Given the description of an element on the screen output the (x, y) to click on. 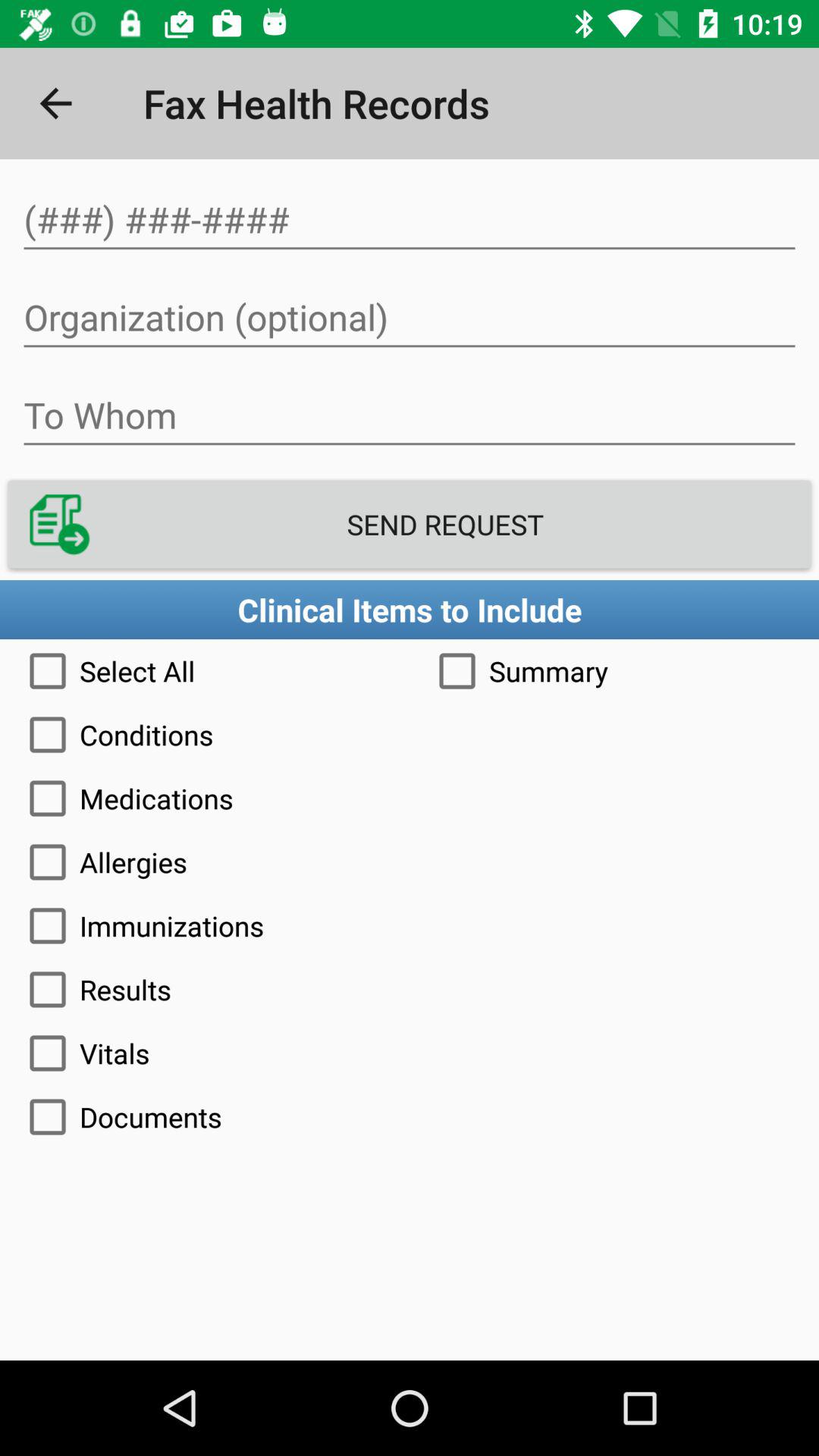
click icon next to the select all icon (614, 670)
